Given the description of an element on the screen output the (x, y) to click on. 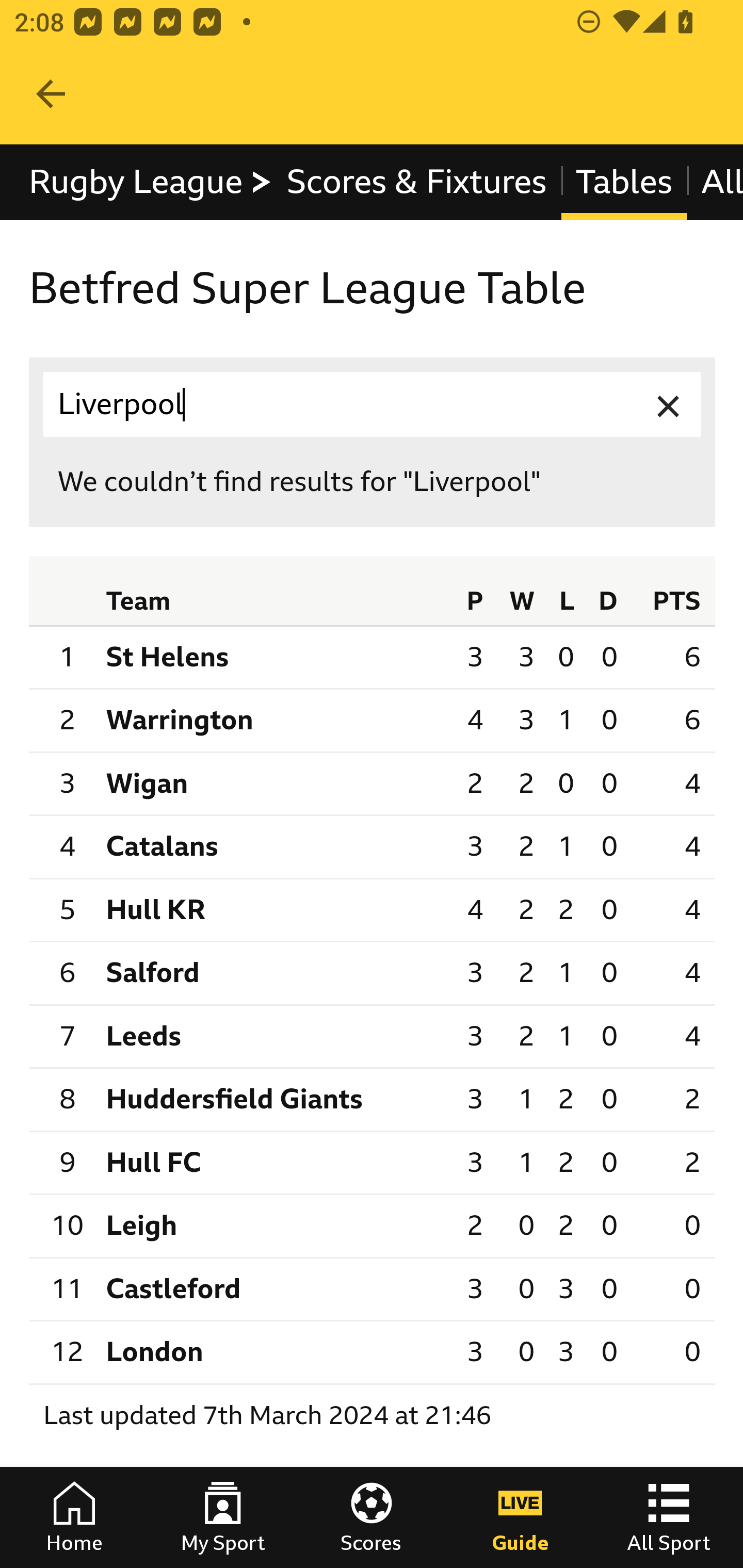
Navigate up (50, 93)
Rugby League  (150, 181)
Scores & Fixtures (416, 181)
Tables (623, 181)
Liverpool (372, 404)
Clear input (669, 404)
St Helens (274, 657)
Warrington Wolves (274, 720)
Wigan Warriors (274, 783)
Catalans Dragons (274, 847)
Hull Kingston Rovers (274, 910)
Salford Red Devils (274, 973)
Leeds Rhinos (274, 1035)
Huddersfield Giants (274, 1099)
Hull FC (274, 1162)
Leigh Leopards (274, 1224)
Castleford Tigers (274, 1289)
London Broncos (274, 1351)
Home (74, 1517)
My Sport (222, 1517)
Scores (371, 1517)
All Sport (668, 1517)
